Given the description of an element on the screen output the (x, y) to click on. 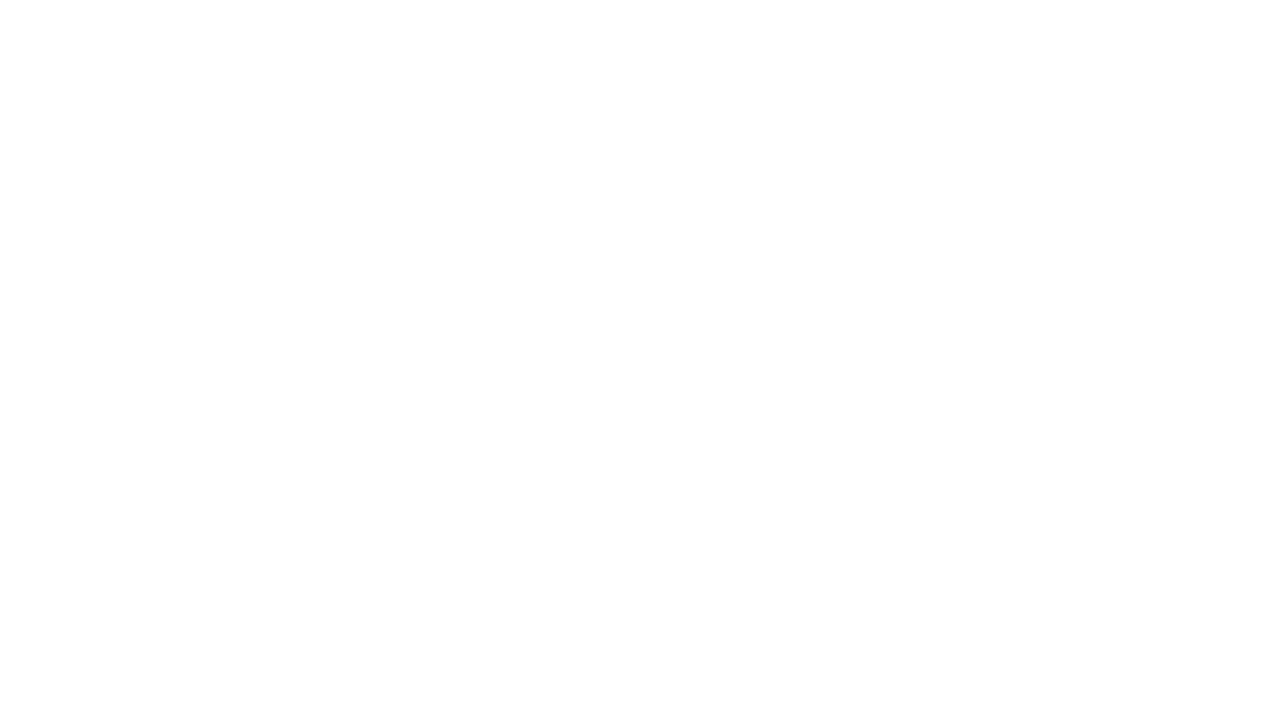
Styles... (702, 151)
Intense Quote (359, 100)
Mode (1133, 47)
Quote (287, 100)
Select (754, 124)
Replace... (753, 101)
Subtle Reference (431, 100)
Emphasis (71, 100)
Row Down (692, 100)
